Given the description of an element on the screen output the (x, y) to click on. 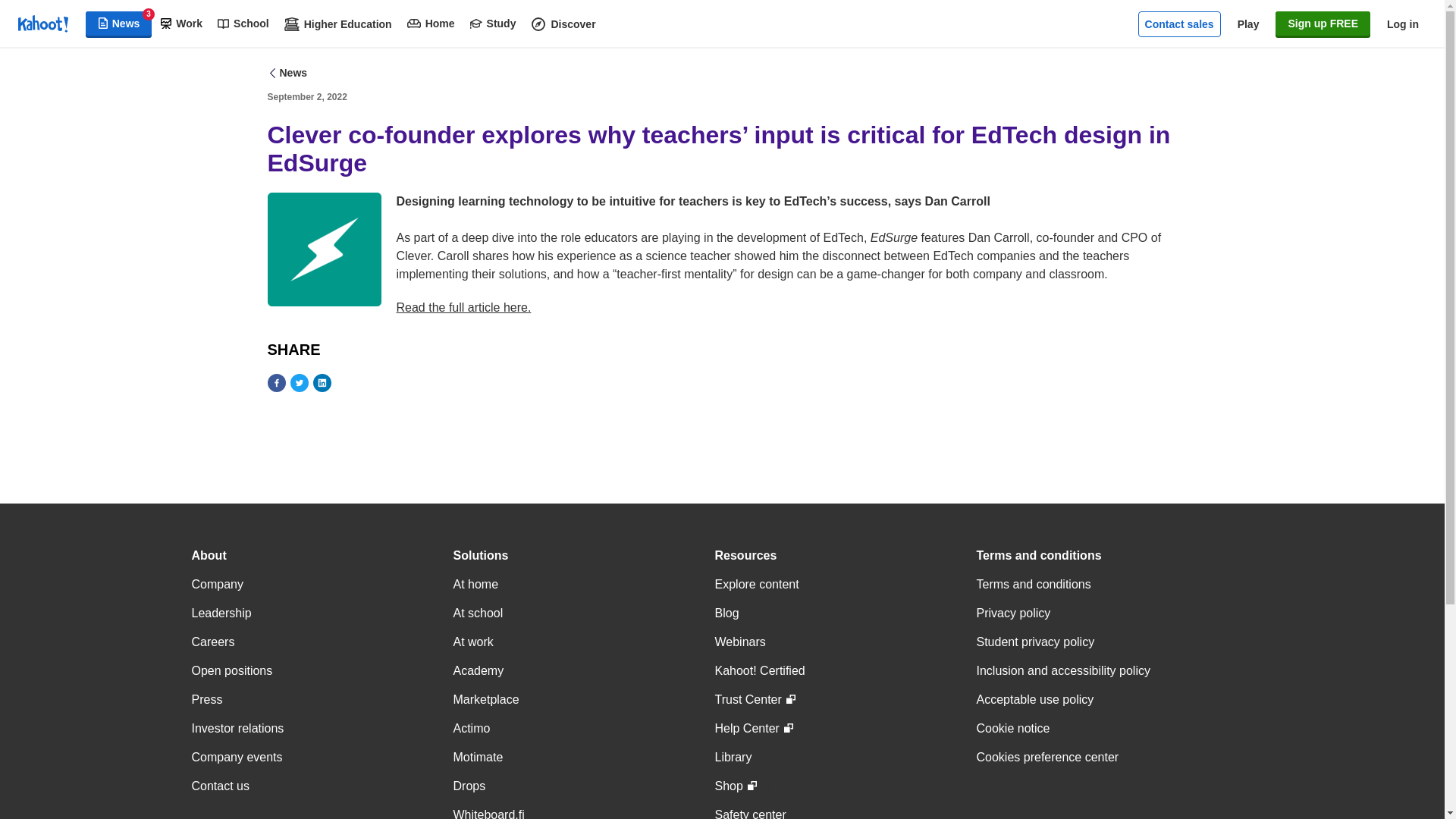
Study (493, 23)
School (243, 23)
Work (181, 23)
Higher Education (337, 23)
Home (431, 23)
Link to kahoot.com homepage (42, 24)
